Given the description of an element on the screen output the (x, y) to click on. 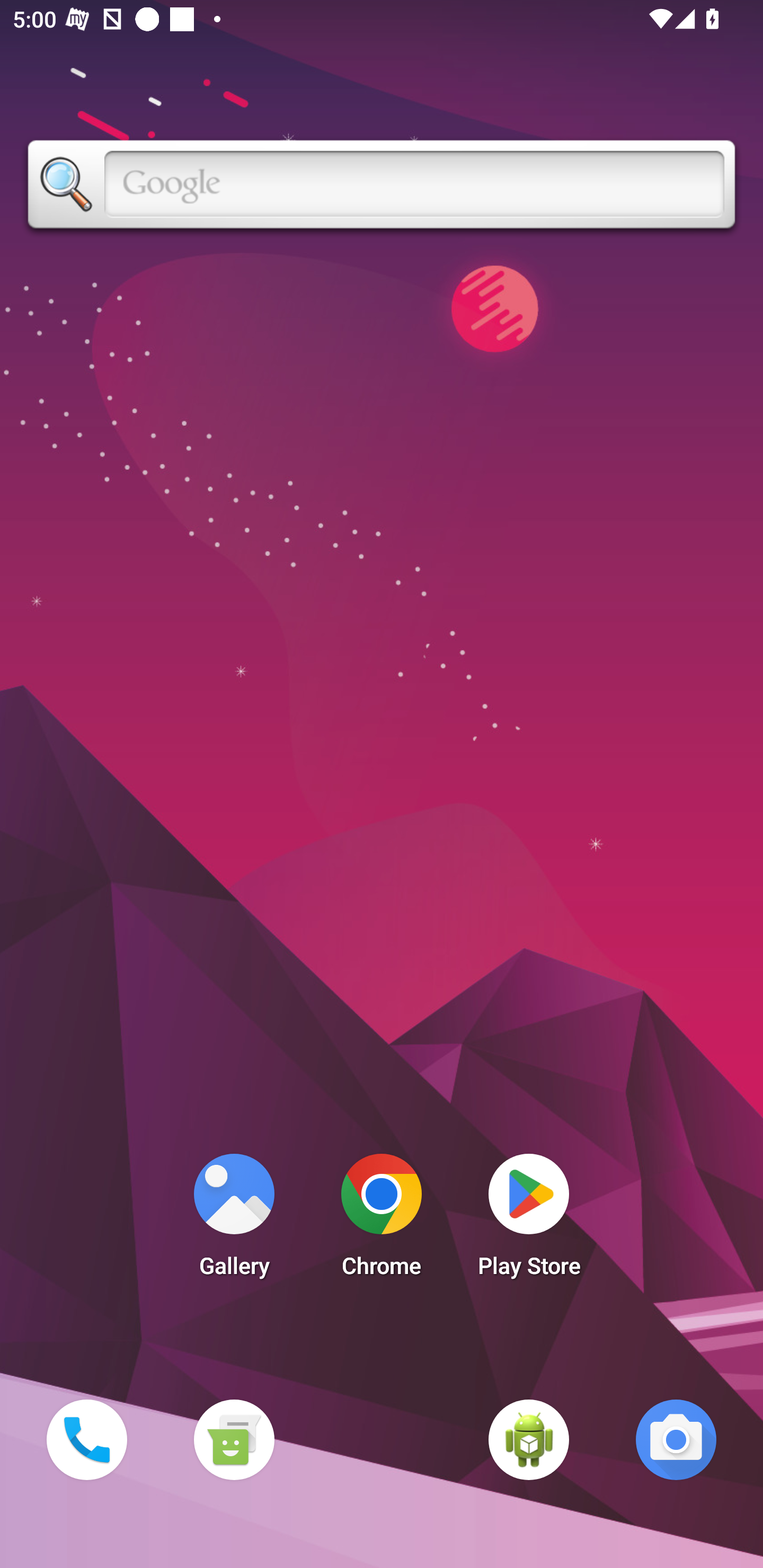
Gallery (233, 1220)
Chrome (381, 1220)
Play Store (528, 1220)
Phone (86, 1439)
Messaging (233, 1439)
WebView Browser Tester (528, 1439)
Camera (676, 1439)
